Given the description of an element on the screen output the (x, y) to click on. 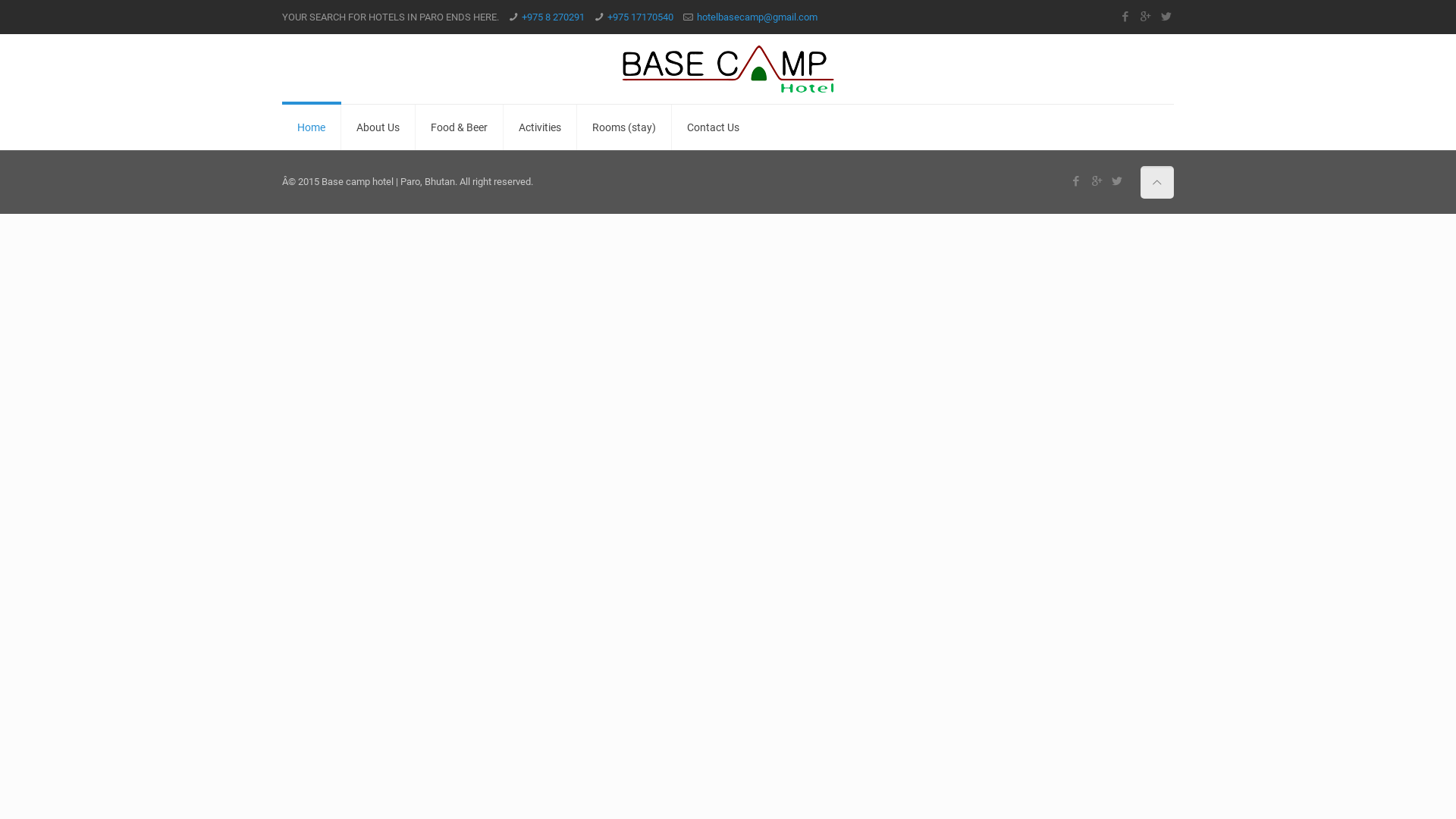
Activities Element type: text (540, 127)
Facebook Element type: hover (1124, 16)
Contact Us Element type: text (712, 127)
Food & Beer Element type: text (459, 127)
+975 17170540 Element type: text (640, 16)
Facebook Element type: hover (1076, 181)
Twitter Element type: hover (1117, 181)
hotelbasecamp@gmail.com Element type: text (756, 16)
+975 8 270291 Element type: text (552, 16)
About Us Element type: text (378, 127)
Google+ Element type: hover (1145, 16)
Rooms (stay) Element type: text (624, 127)
Base Camp Hotel Element type: hover (727, 68)
Google+ Element type: hover (1096, 181)
Home Element type: text (311, 127)
Twitter Element type: hover (1165, 16)
